Given the description of an element on the screen output the (x, y) to click on. 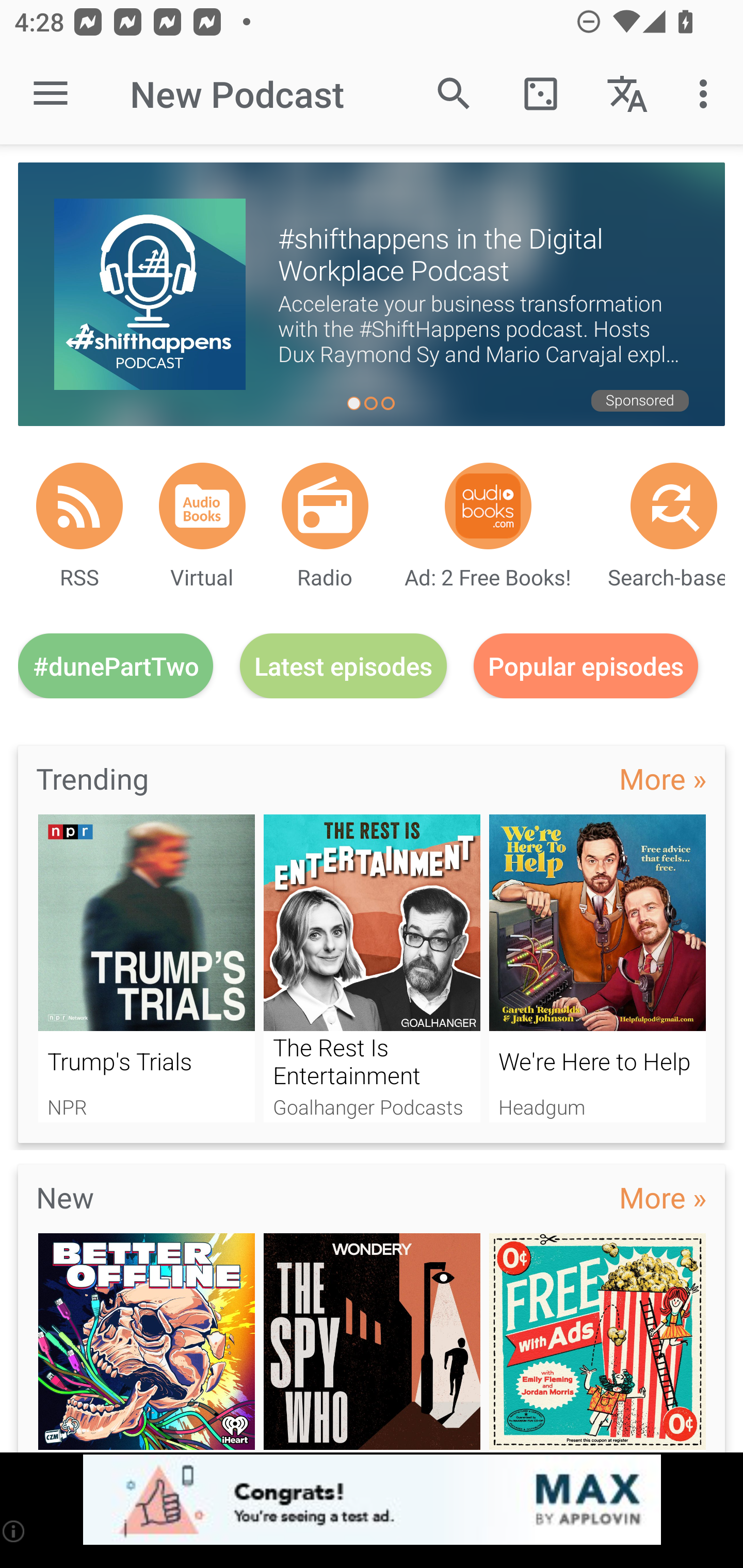
Open navigation sidebar (50, 93)
Search (453, 93)
Random pick (540, 93)
Podcast languages (626, 93)
More options (706, 93)
RSS (79, 505)
Virtual (202, 505)
Radio (324, 505)
Search-based (673, 505)
#dunePartTwo (115, 665)
Latest episodes (342, 665)
Popular episodes (586, 665)
More » (662, 778)
Trump's Trials NPR (145, 967)
The Rest Is Entertainment Goalhanger Podcasts (371, 967)
We're Here to Help Headgum (596, 967)
More » (662, 1196)
Better Offline (145, 1342)
The Spy Who (371, 1342)
Free With Ads (596, 1342)
app-monetization (371, 1500)
(i) (14, 1531)
